Given the description of an element on the screen output the (x, y) to click on. 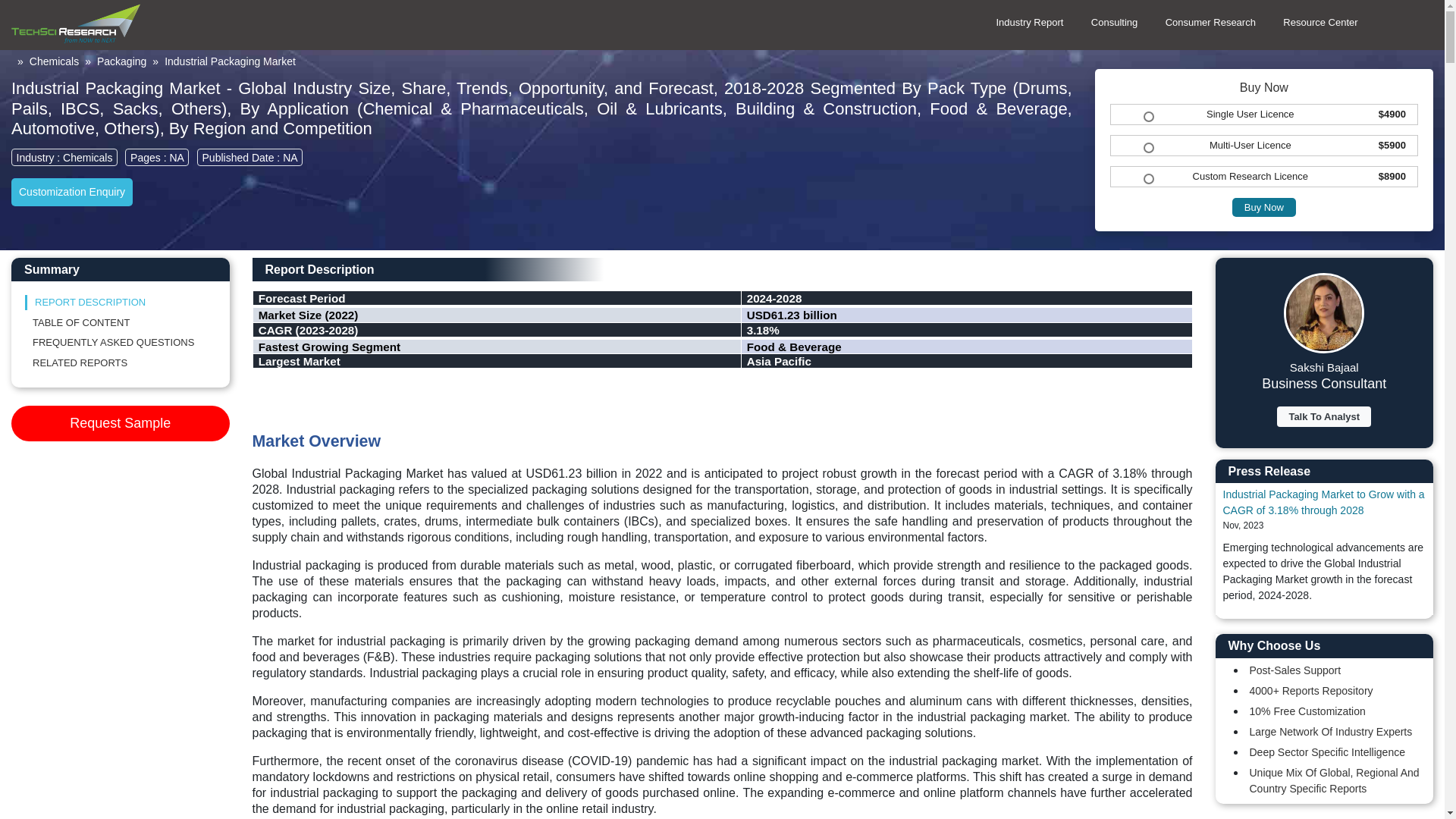
Buy Now (1263, 207)
Industry Report (1027, 22)
